Given the description of an element on the screen output the (x, y) to click on. 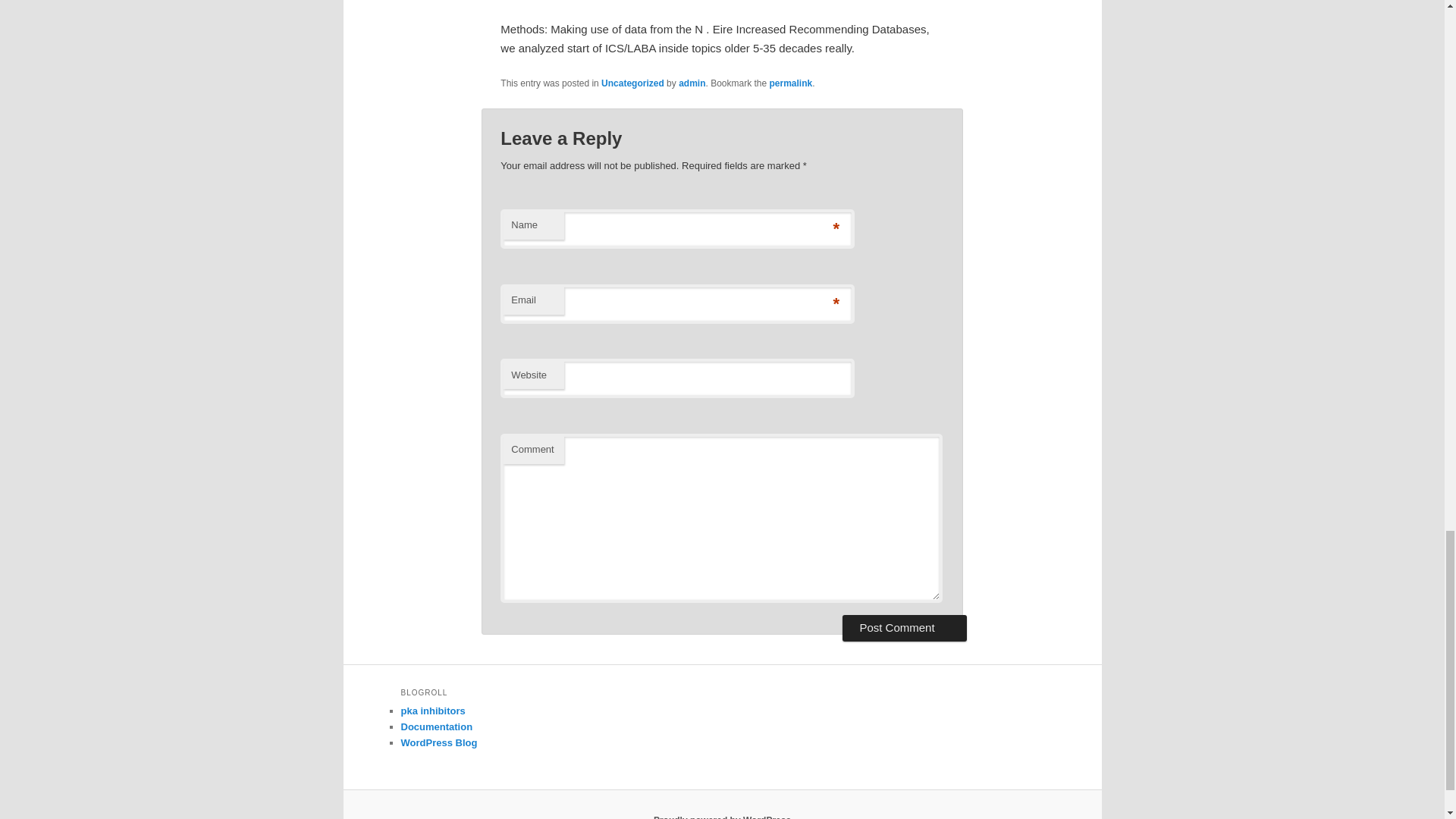
pka inhibitors (432, 710)
View all posts in Uncategorized (632, 82)
Semantic Personal Publishing Platform (721, 816)
Uncategorized (632, 82)
Post Comment (904, 627)
admin (691, 82)
Post Comment (904, 627)
Documentation (435, 726)
permalink (791, 82)
Proudly powered by WordPress (721, 816)
